Given the description of an element on the screen output the (x, y) to click on. 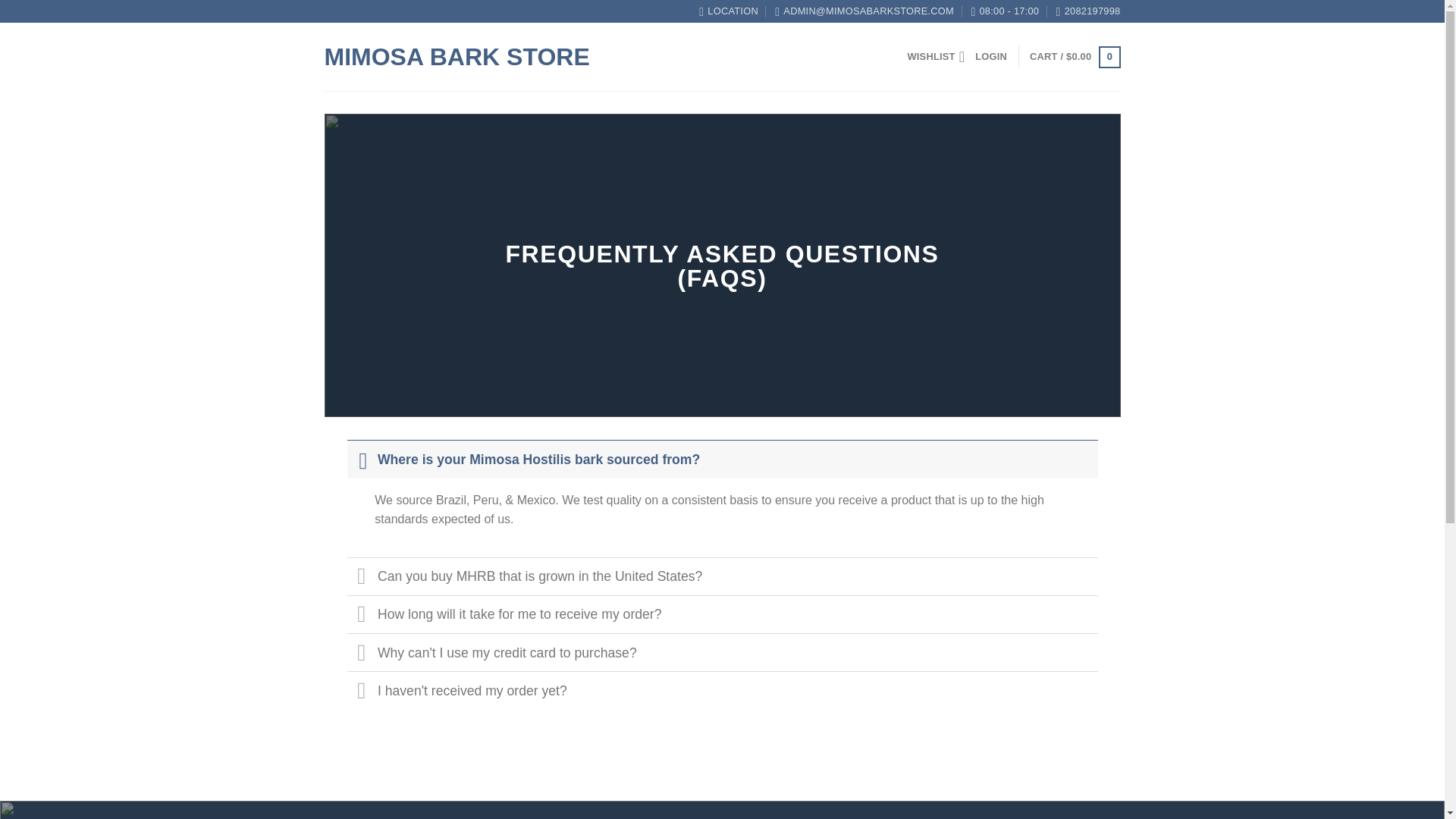
How long will it take for me to receive my order? (722, 614)
MIMOSA BARK STORE (499, 56)
I haven't received my order yet? (722, 689)
Can you buy MHRB that is grown in the United States? (722, 576)
08:00 - 17:00 (1005, 11)
WISHLIST (935, 56)
2082197998 (1089, 11)
08:00 - 17:00  (1005, 11)
Idaho Falls, ID (728, 11)
Login (991, 56)
